Given the description of an element on the screen output the (x, y) to click on. 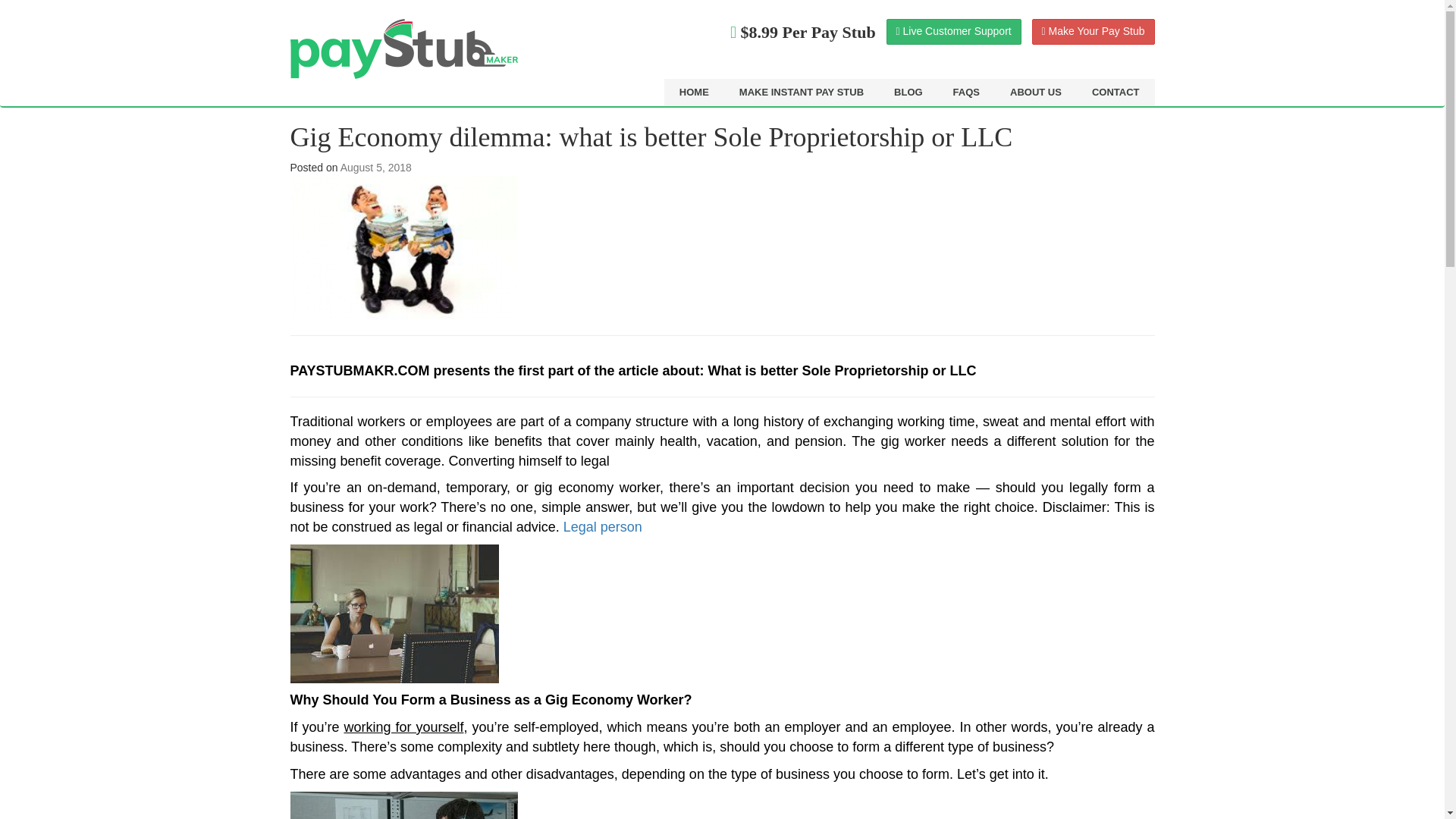
BLOG (908, 92)
MAKE INSTANT PAY STUB (801, 92)
Pay Stub Maker (402, 48)
ABOUT US (1035, 92)
Make Your Pay Stub (1093, 31)
Live Customer Support (954, 31)
BLOG (908, 92)
CONTACT (1115, 92)
FAQs (965, 92)
ABOUT US (1035, 92)
